Given the description of an element on the screen output the (x, y) to click on. 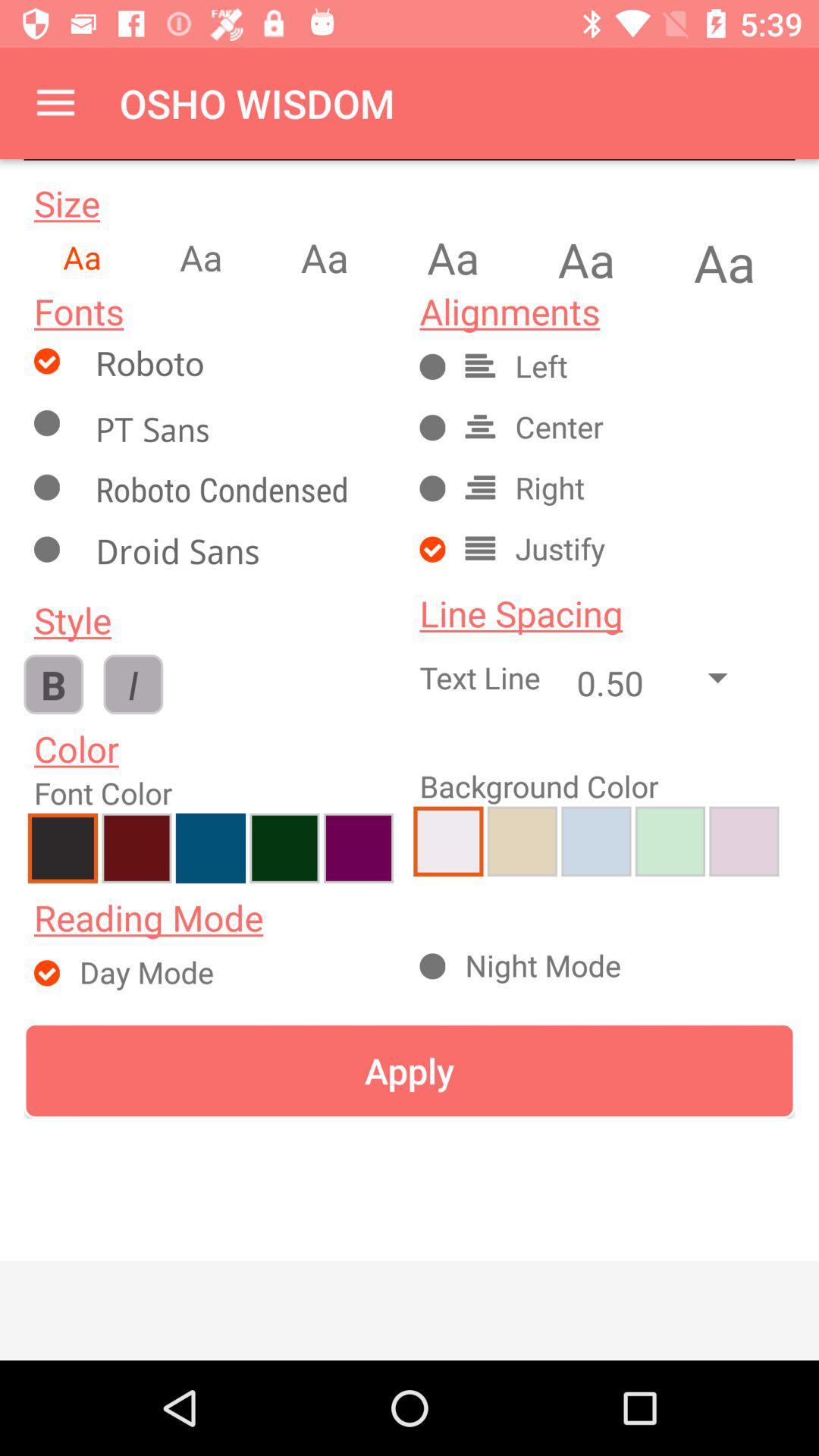
change background color to green (670, 841)
